Given the description of an element on the screen output the (x, y) to click on. 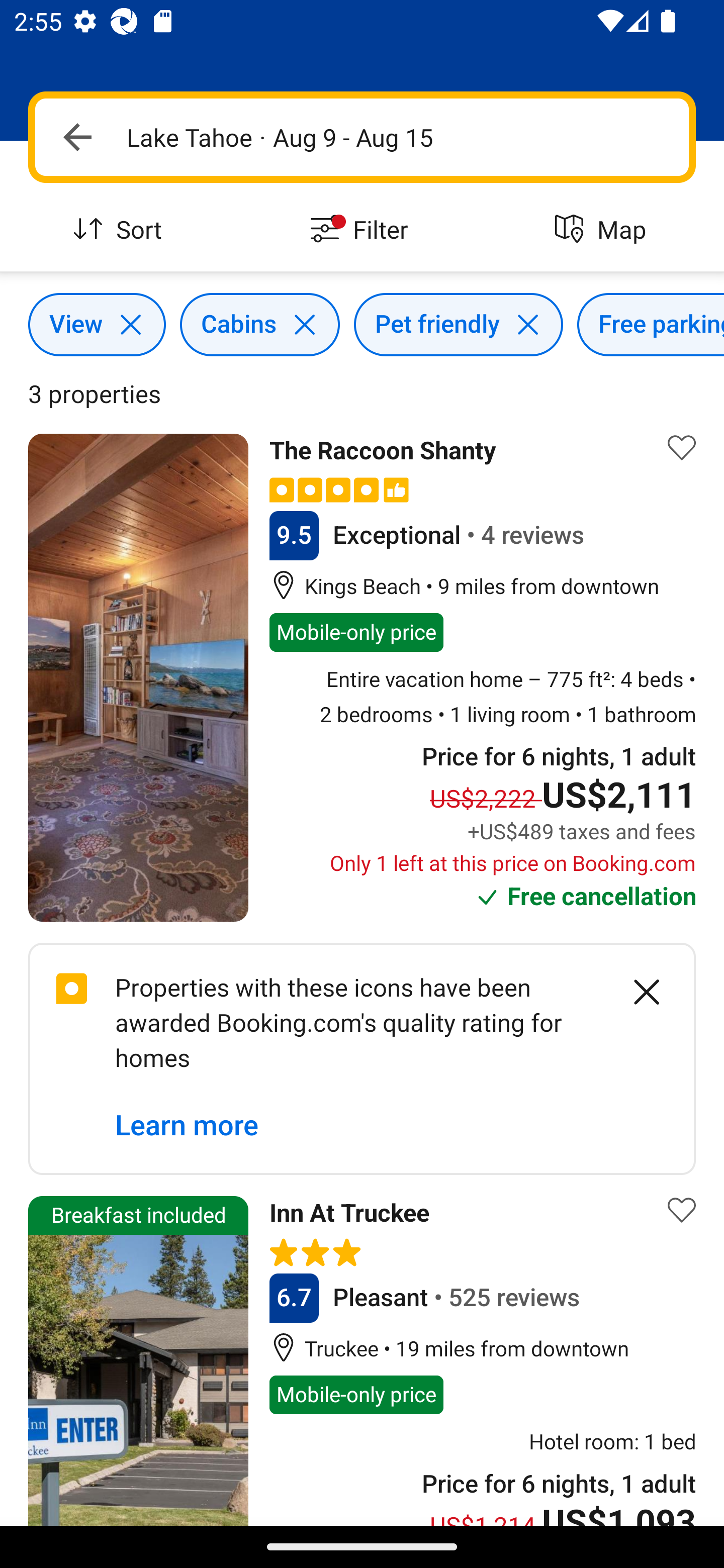
Navigate up Lake Tahoe · Aug 9 - Aug 15 (362, 136)
Navigate up (77, 136)
Sort (120, 230)
Filter (361, 230)
Map (603, 230)
Save property to list (681, 447)
Clear (635, 992)
Learn more (187, 1125)
Save property to list (681, 1210)
